Given the description of an element on the screen output the (x, y) to click on. 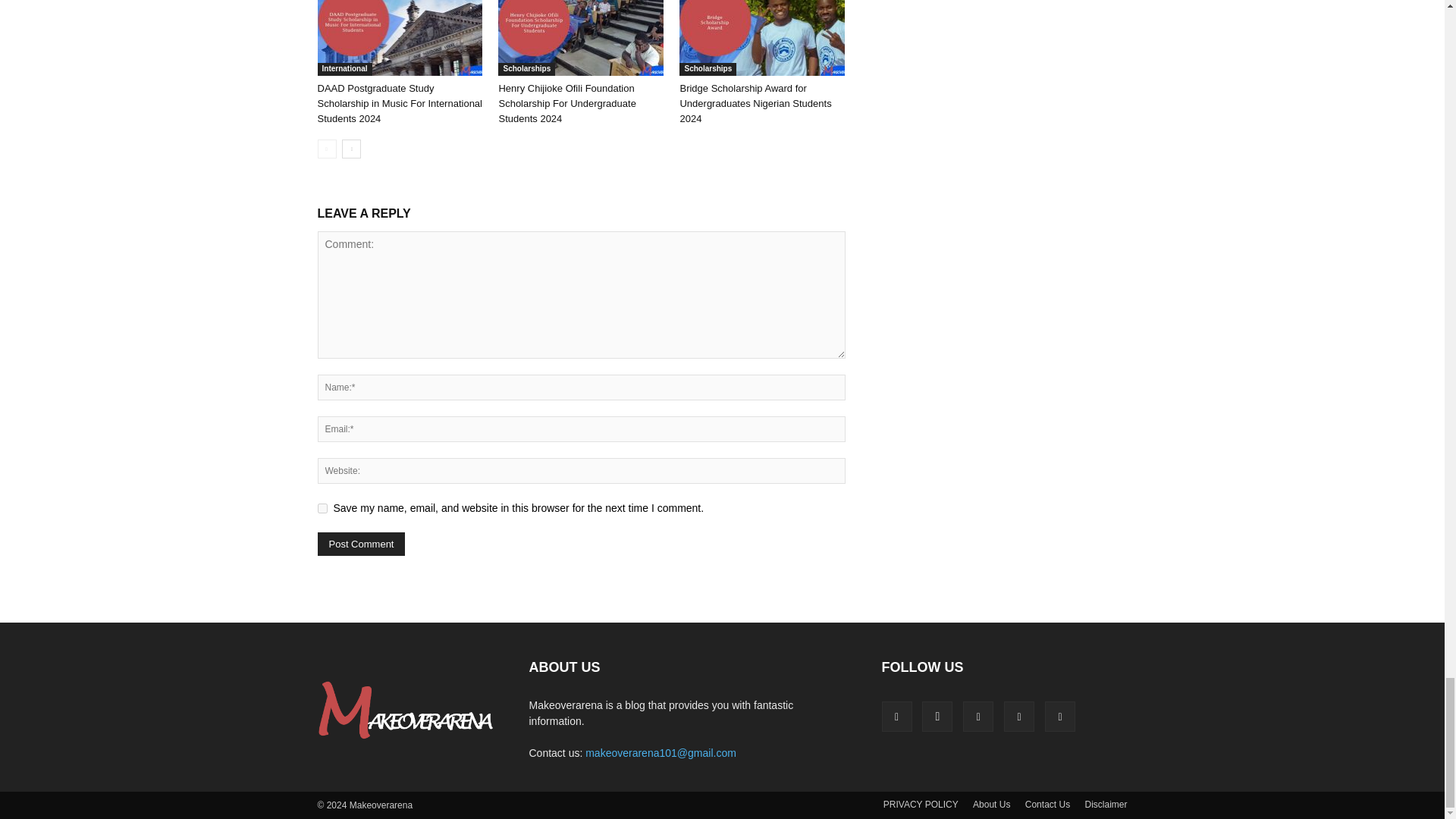
Post Comment (360, 544)
yes (321, 508)
